Given the description of an element on the screen output the (x, y) to click on. 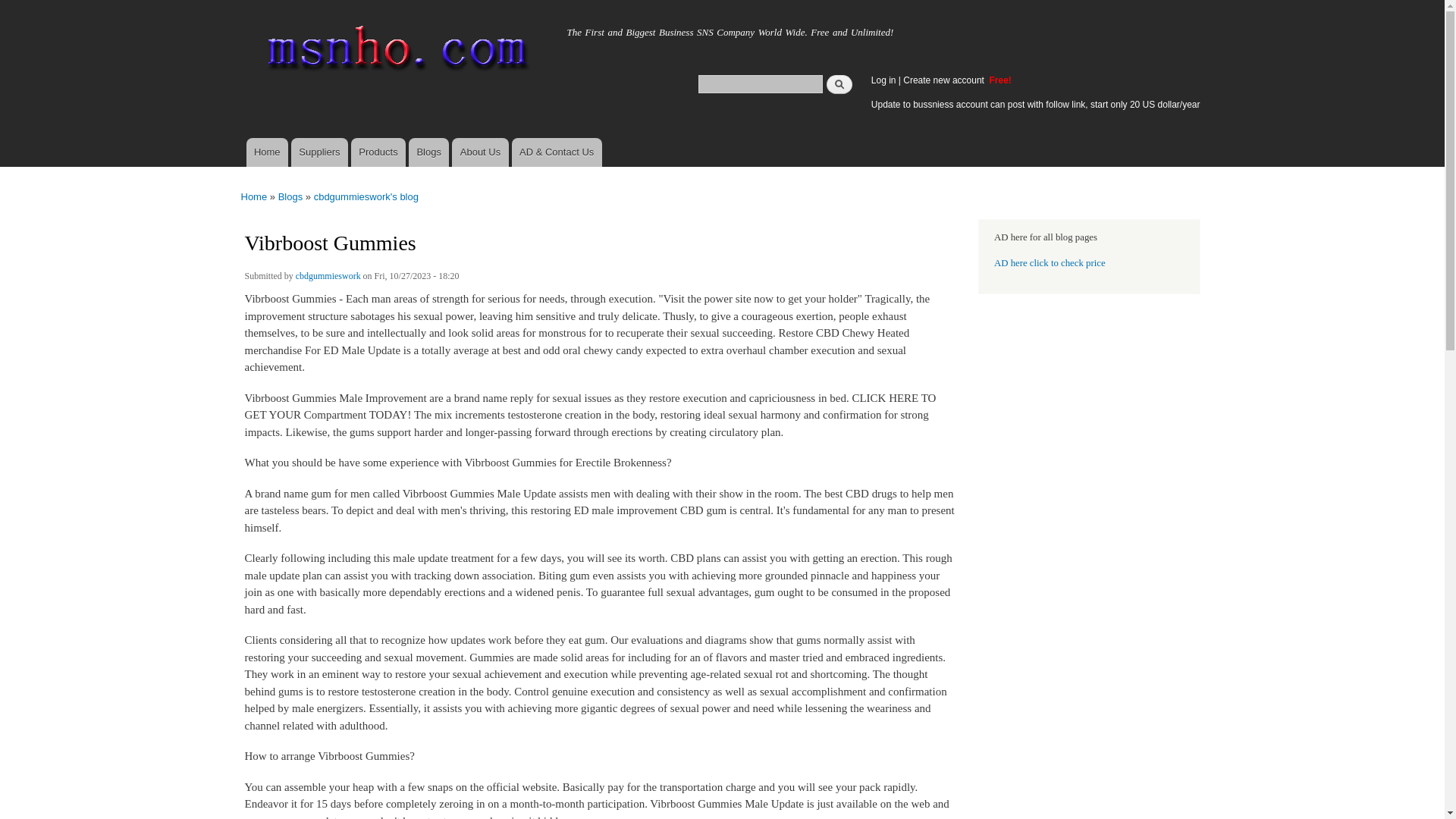
Skip to main content (690, 1)
View user profile. (328, 277)
About Us (479, 152)
Home (394, 51)
Search (839, 83)
About us (479, 152)
Search (839, 83)
msnho.com (282, 28)
cbdgummieswork (328, 277)
AD here click to check price (1049, 262)
Products (378, 152)
Home (282, 28)
Blogs (428, 152)
Products,if need post product, contact to our AD department (378, 152)
